Given the description of an element on the screen output the (x, y) to click on. 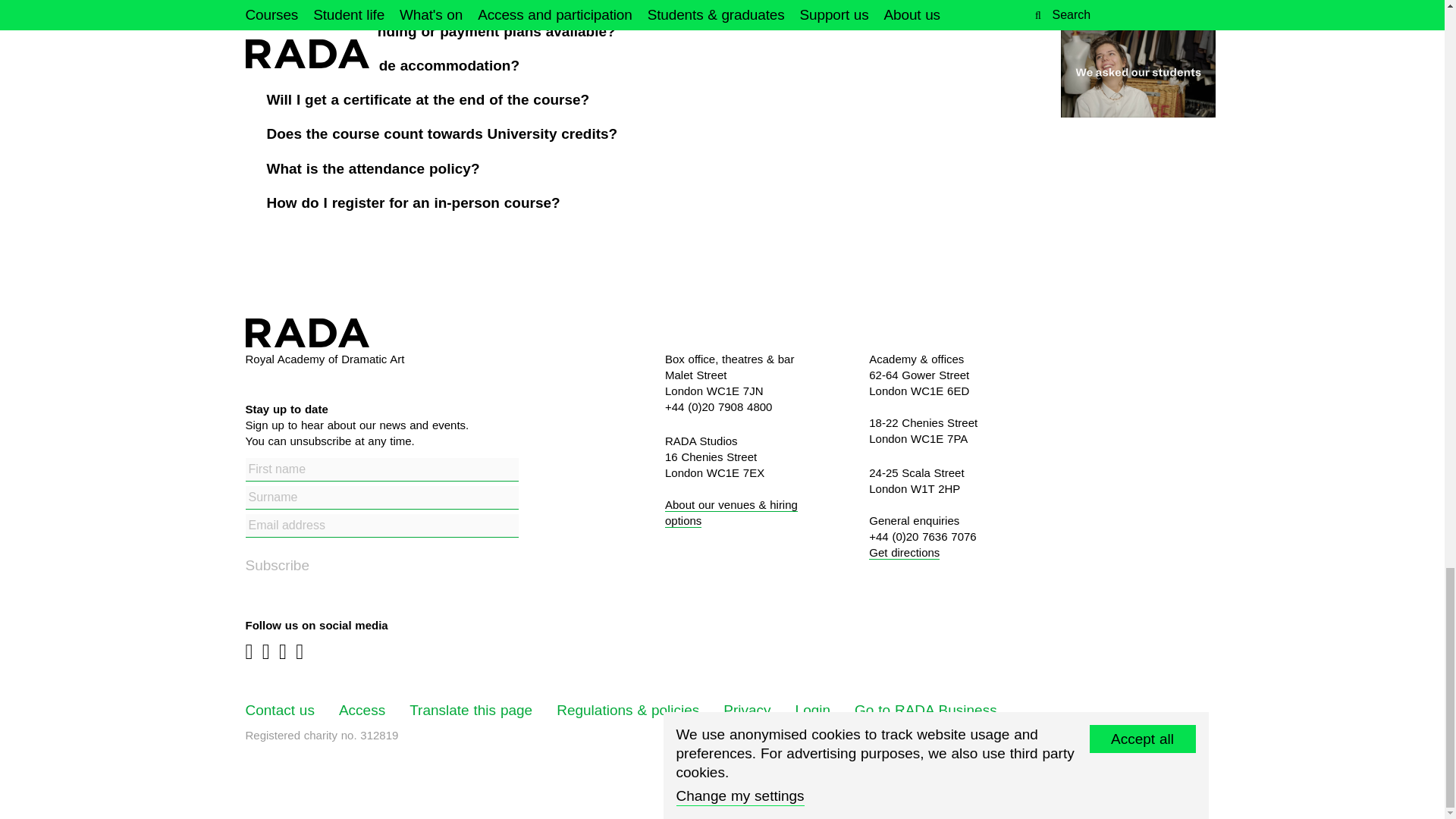
Get directions (904, 552)
Login (812, 709)
Access (362, 709)
Privacy (746, 709)
Subscribe (294, 565)
Go to RADA Business (925, 709)
Translate this page (470, 709)
Contact us (280, 709)
